Given the description of an element on the screen output the (x, y) to click on. 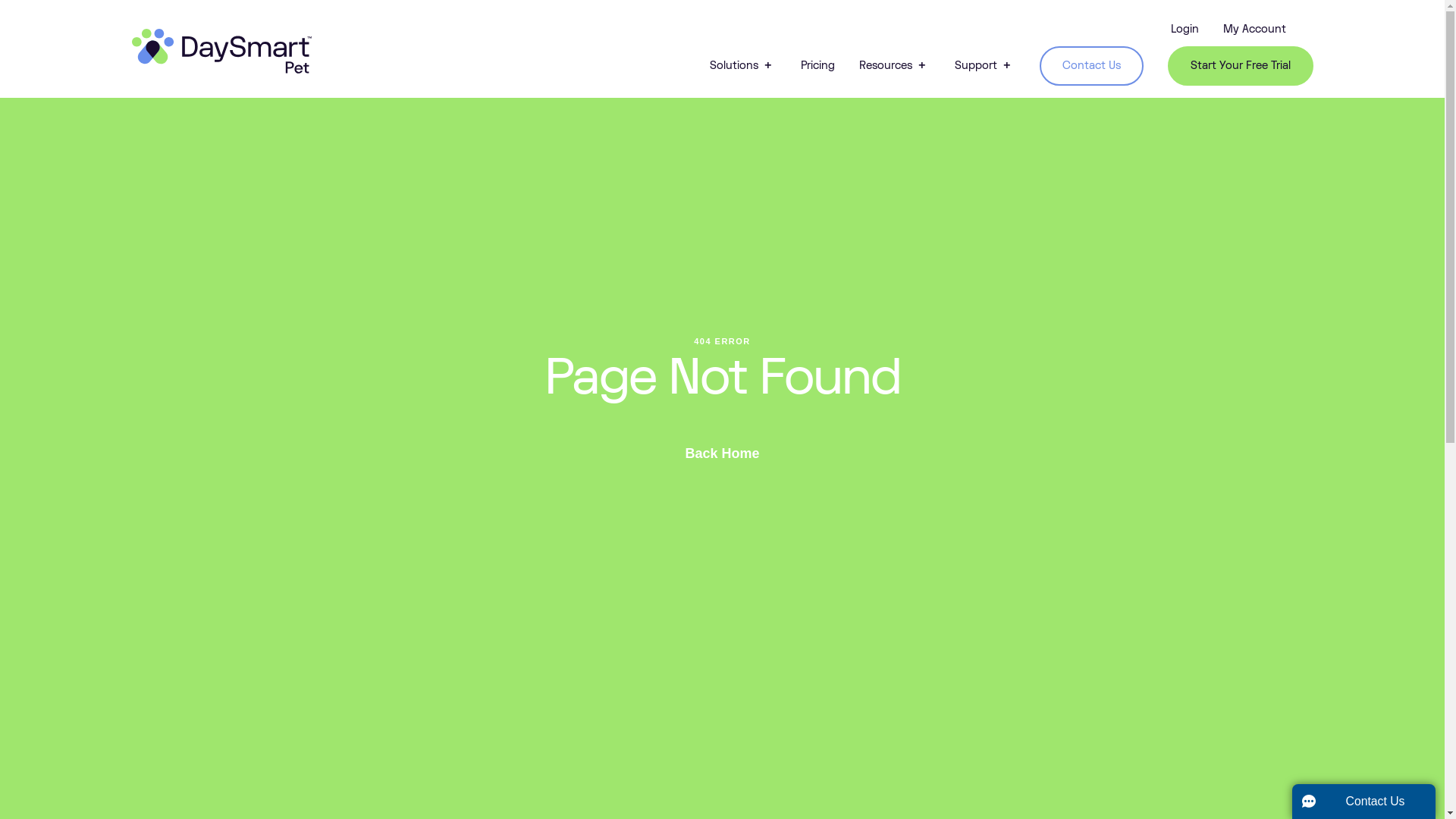
Back Home Element type: text (721, 453)
Homepage Element type: hover (221, 51)
Resources Element type: text (893, 65)
Contact Us Element type: text (1090, 65)
My Account Element type: text (1253, 28)
Start Your Free Trial Element type: text (1240, 65)
Support Element type: text (983, 65)
Login Element type: text (1184, 28)
Solutions Element type: text (742, 65)
Pricing Element type: text (817, 64)
